Given the description of an element on the screen output the (x, y) to click on. 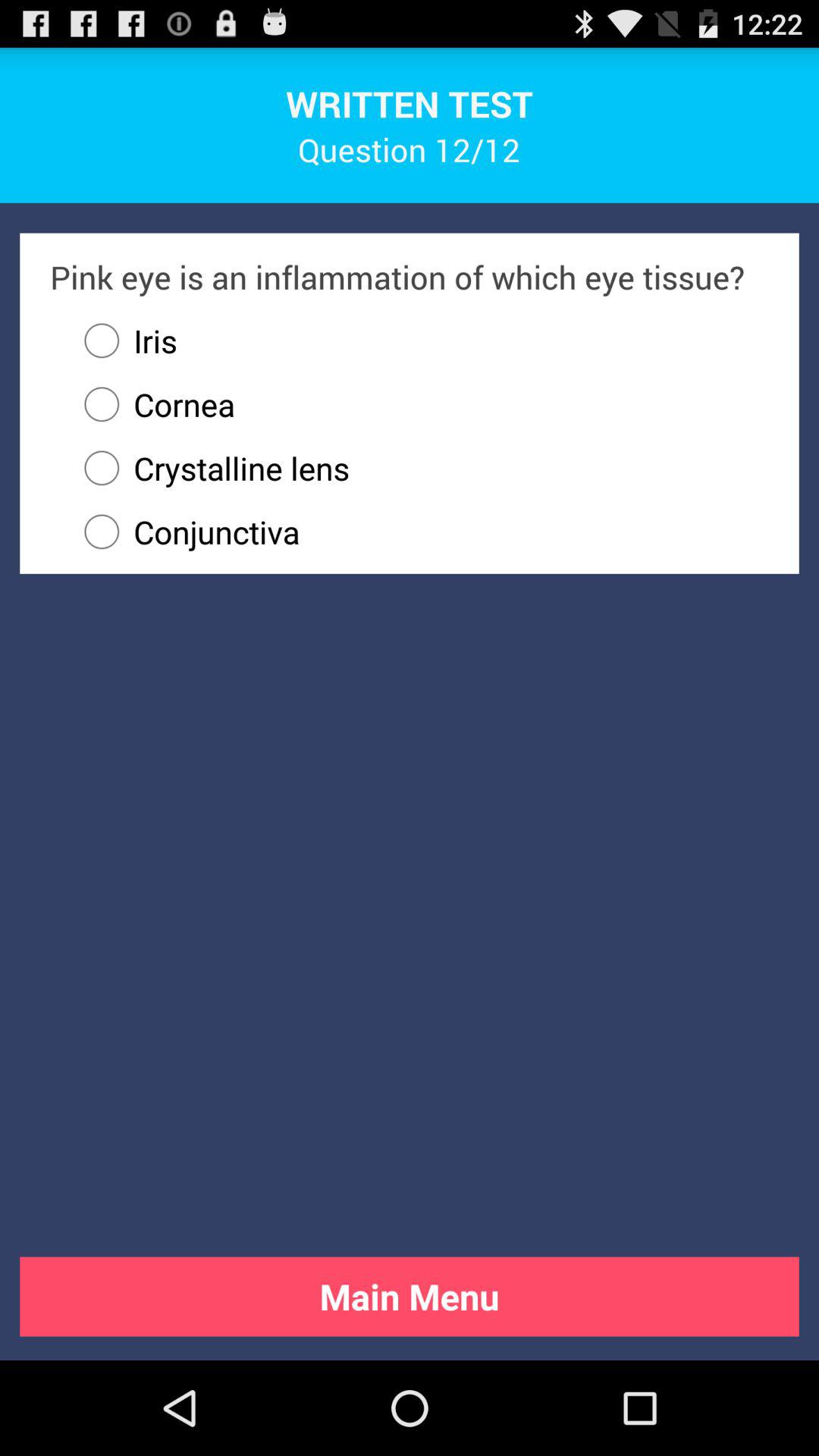
open crystalline lens radio button (418, 467)
